Given the description of an element on the screen output the (x, y) to click on. 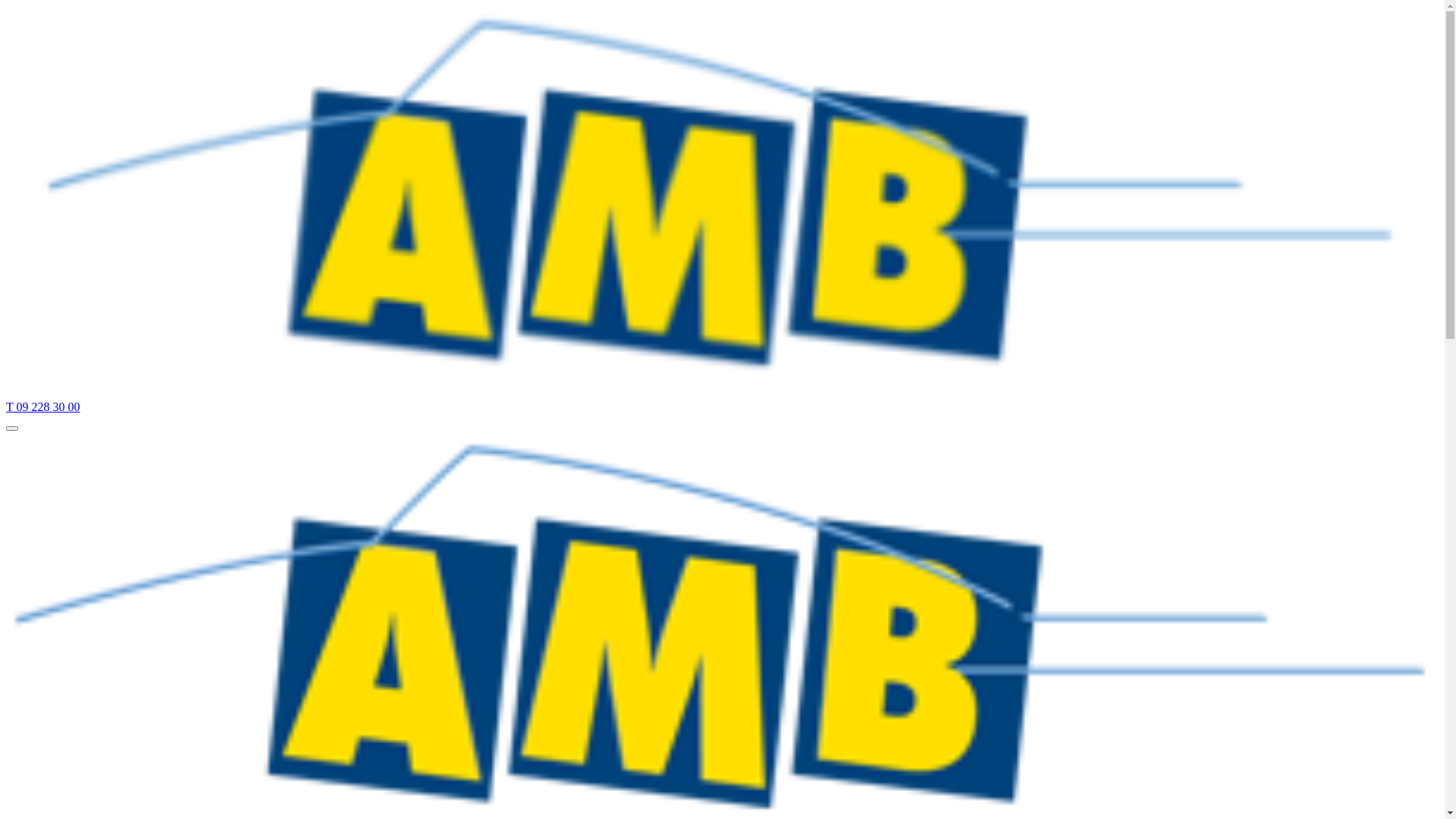
T 09 228 30 00 Element type: text (42, 406)
